Given the description of an element on the screen output the (x, y) to click on. 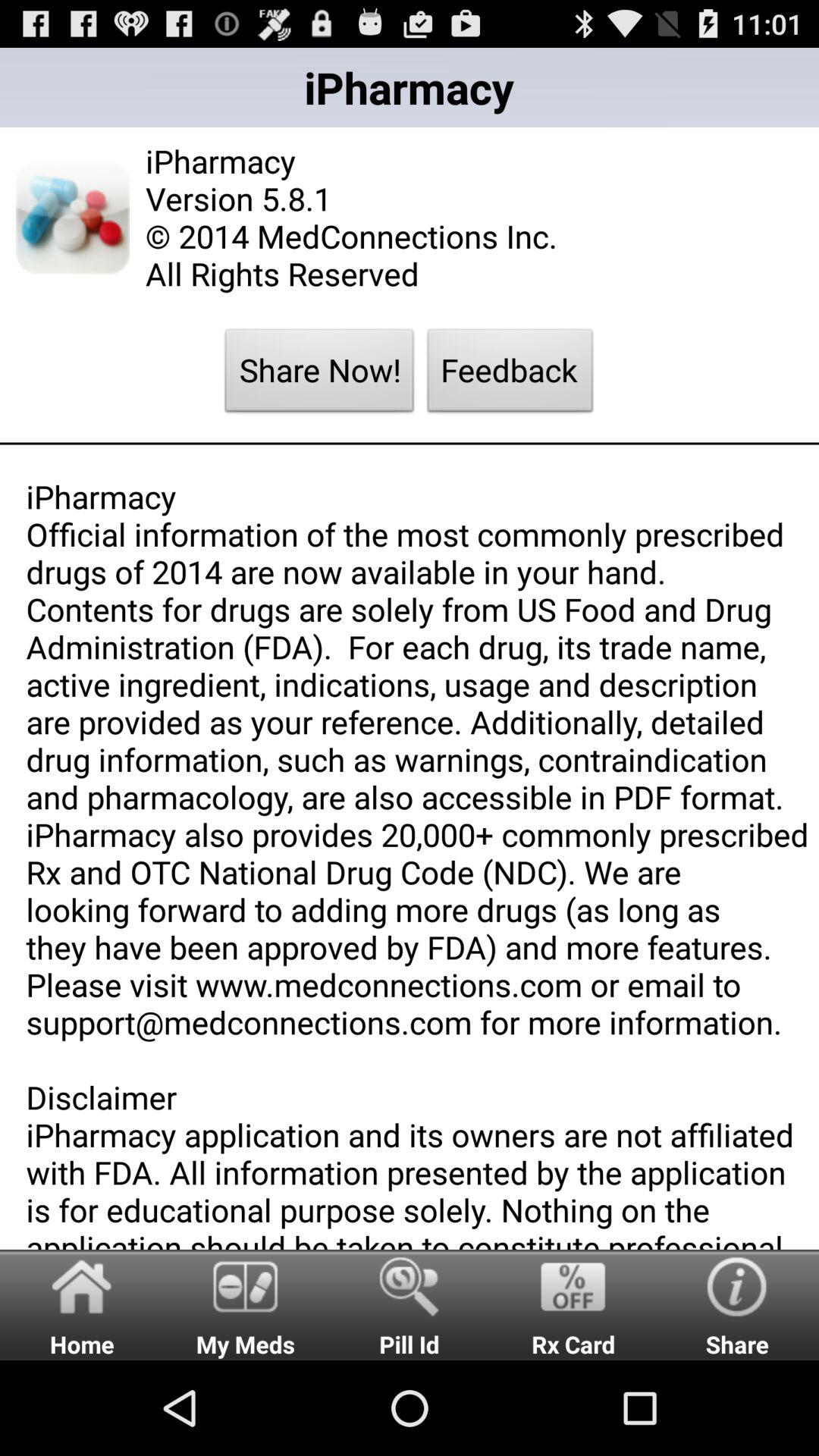
press the radio button to the right of home icon (245, 1304)
